Given the description of an element on the screen output the (x, y) to click on. 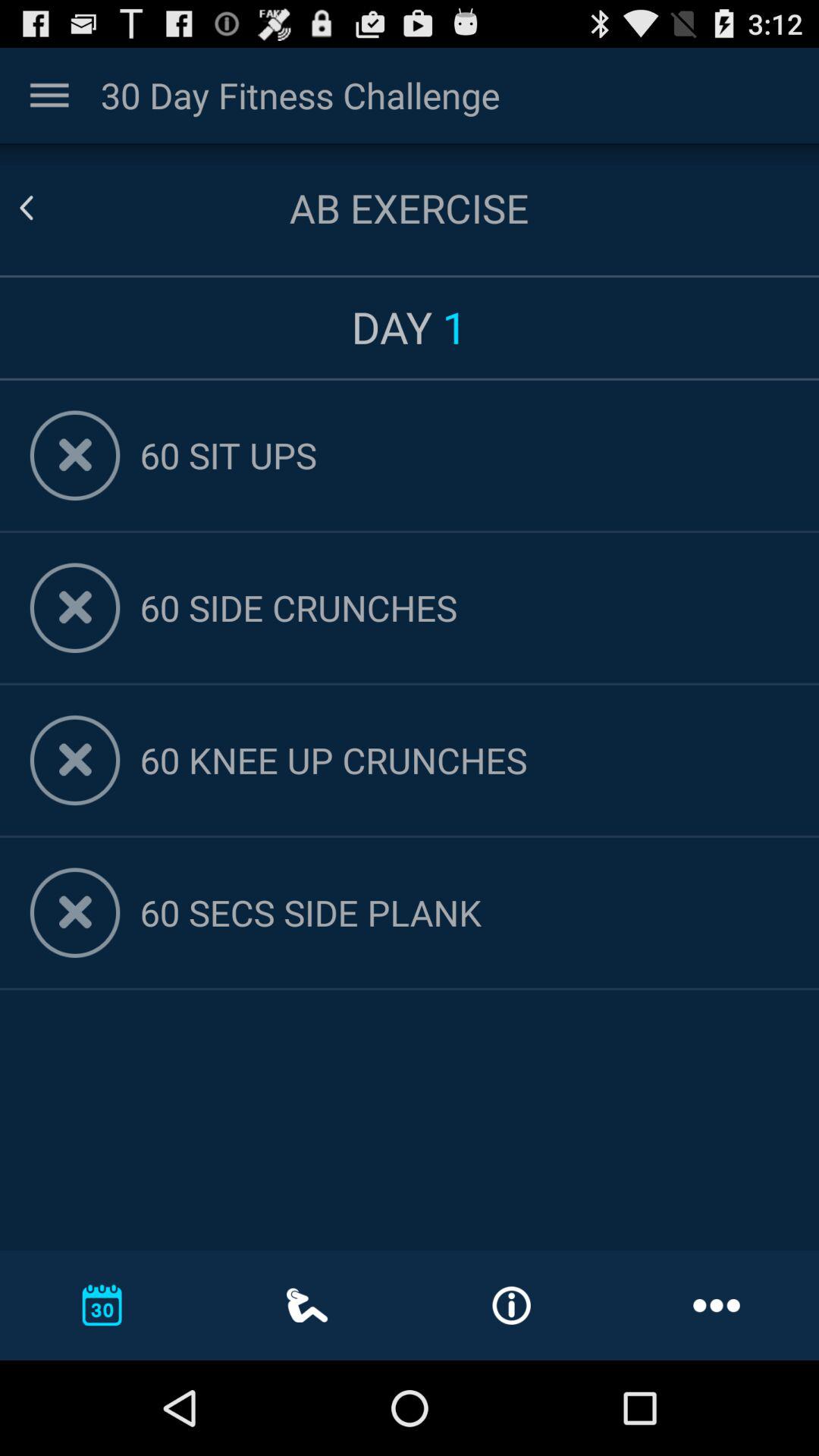
remove exercise (75, 760)
